Given the description of an element on the screen output the (x, y) to click on. 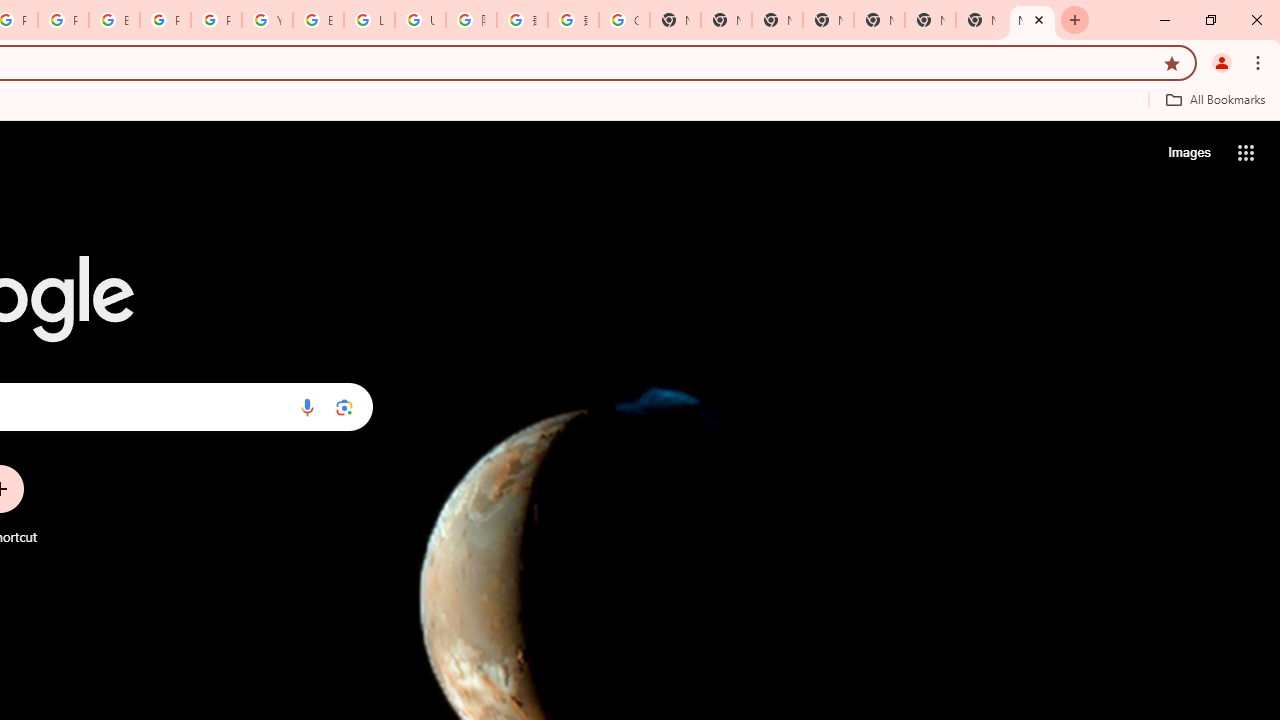
Search for Images  (1188, 152)
New Tab (930, 20)
Search by voice (307, 407)
Browse Chrome as a guest - Computer - Google Chrome Help (318, 20)
New Tab (1032, 20)
YouTube (267, 20)
All Bookmarks (1215, 99)
